Given the description of an element on the screen output the (x, y) to click on. 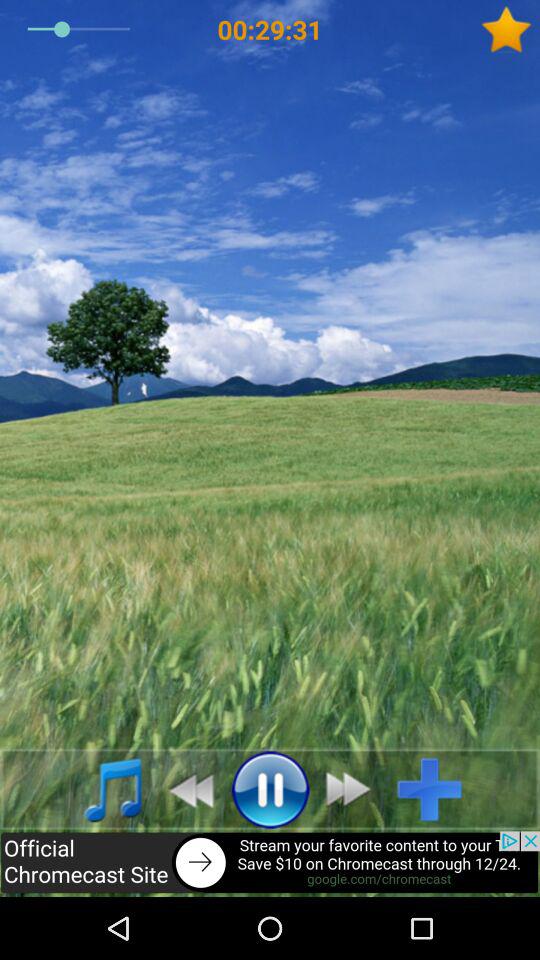
go to previous (186, 789)
